Given the description of an element on the screen output the (x, y) to click on. 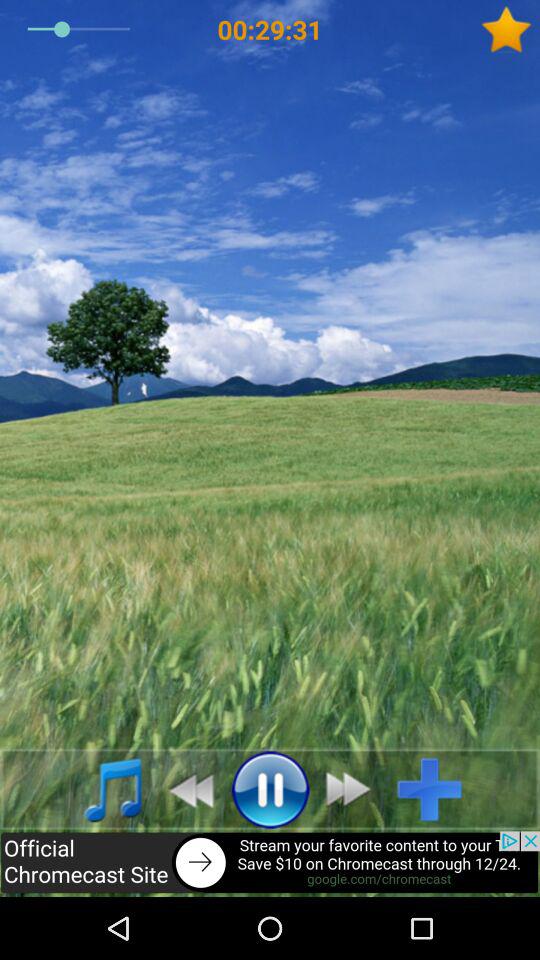
go to previous (186, 789)
